Given the description of an element on the screen output the (x, y) to click on. 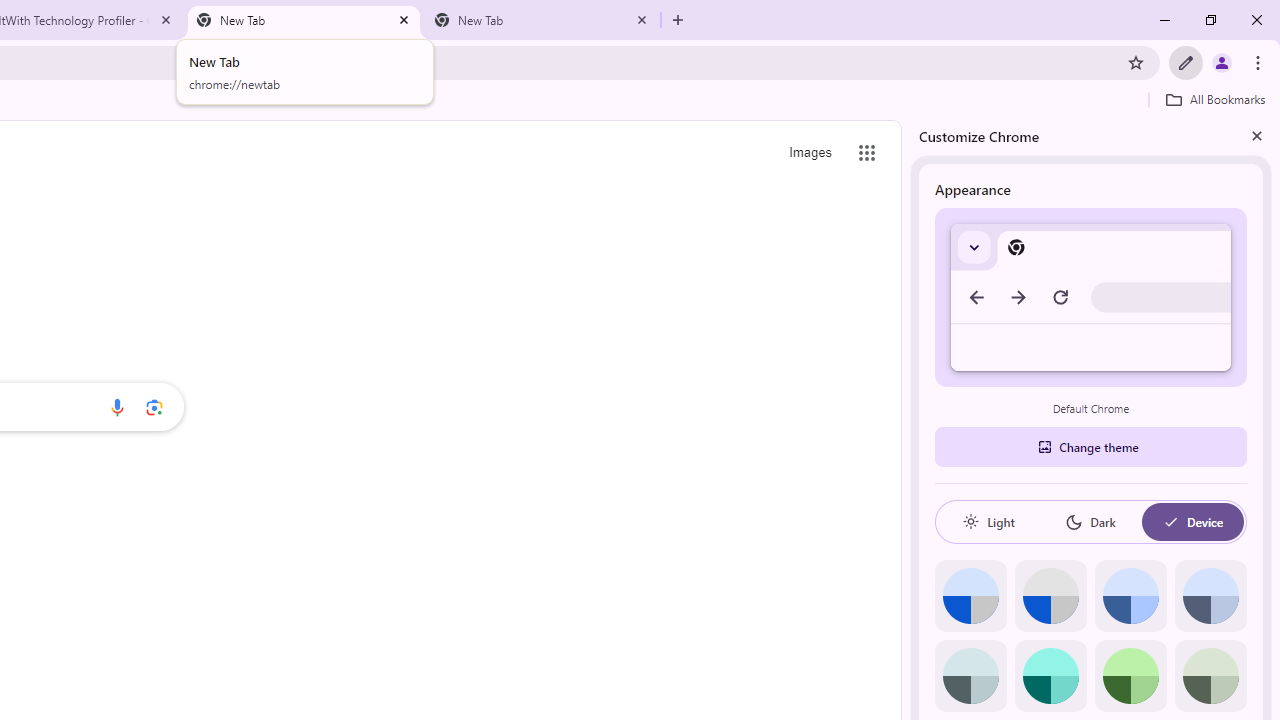
Default color (970, 596)
Aqua (1050, 676)
Default Chrome (1091, 296)
New Tab (541, 20)
Search by image (153, 407)
Viridian (1210, 676)
Search for Images  (810, 152)
Search by voice (116, 407)
Device (1192, 521)
AutomationID: baseSvg (1170, 521)
Grey default color (1050, 596)
All Bookmarks (1215, 99)
